Given the description of an element on the screen output the (x, y) to click on. 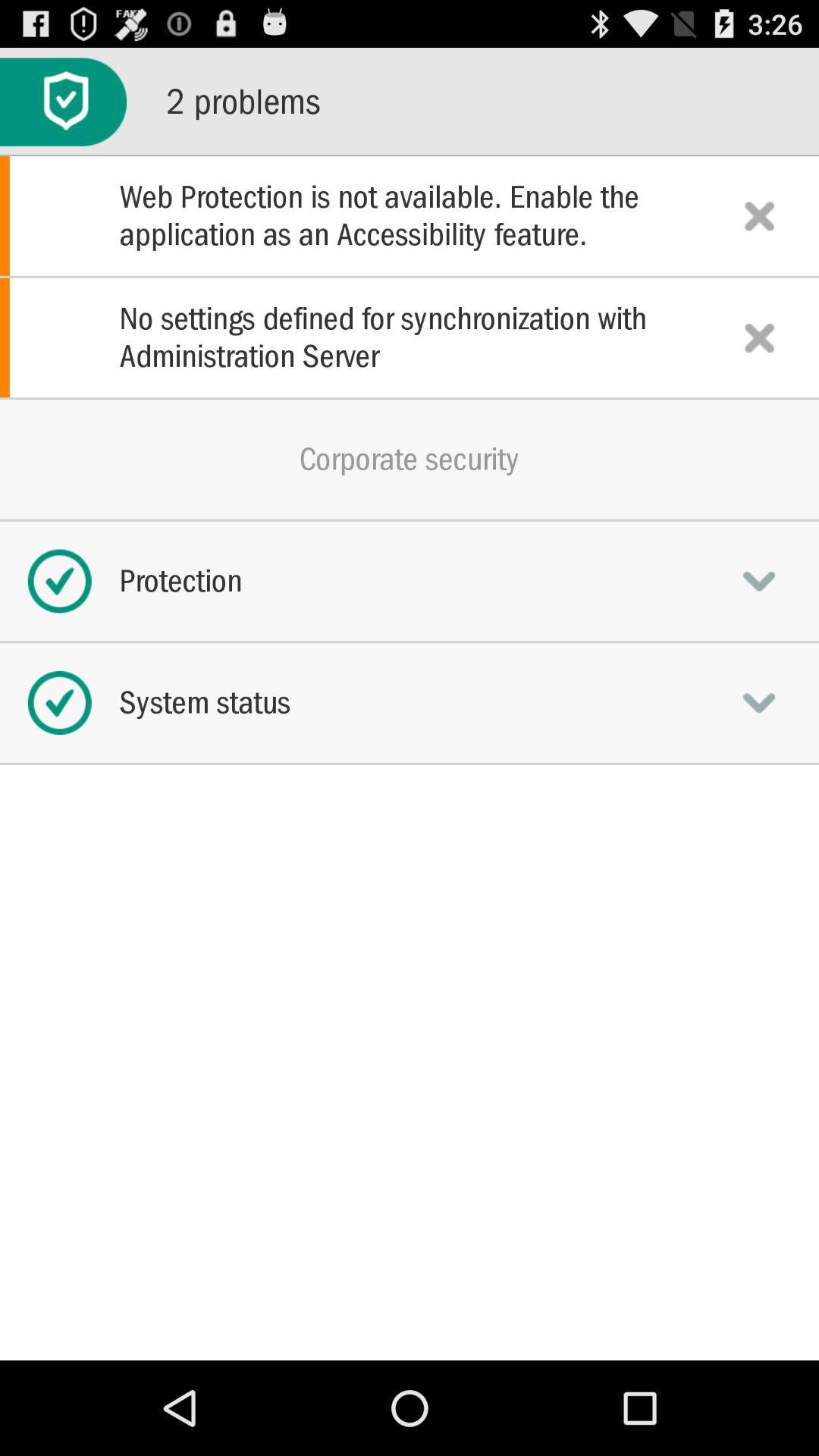
jump to the corporate security icon (409, 459)
